Given the description of an element on the screen output the (x, y) to click on. 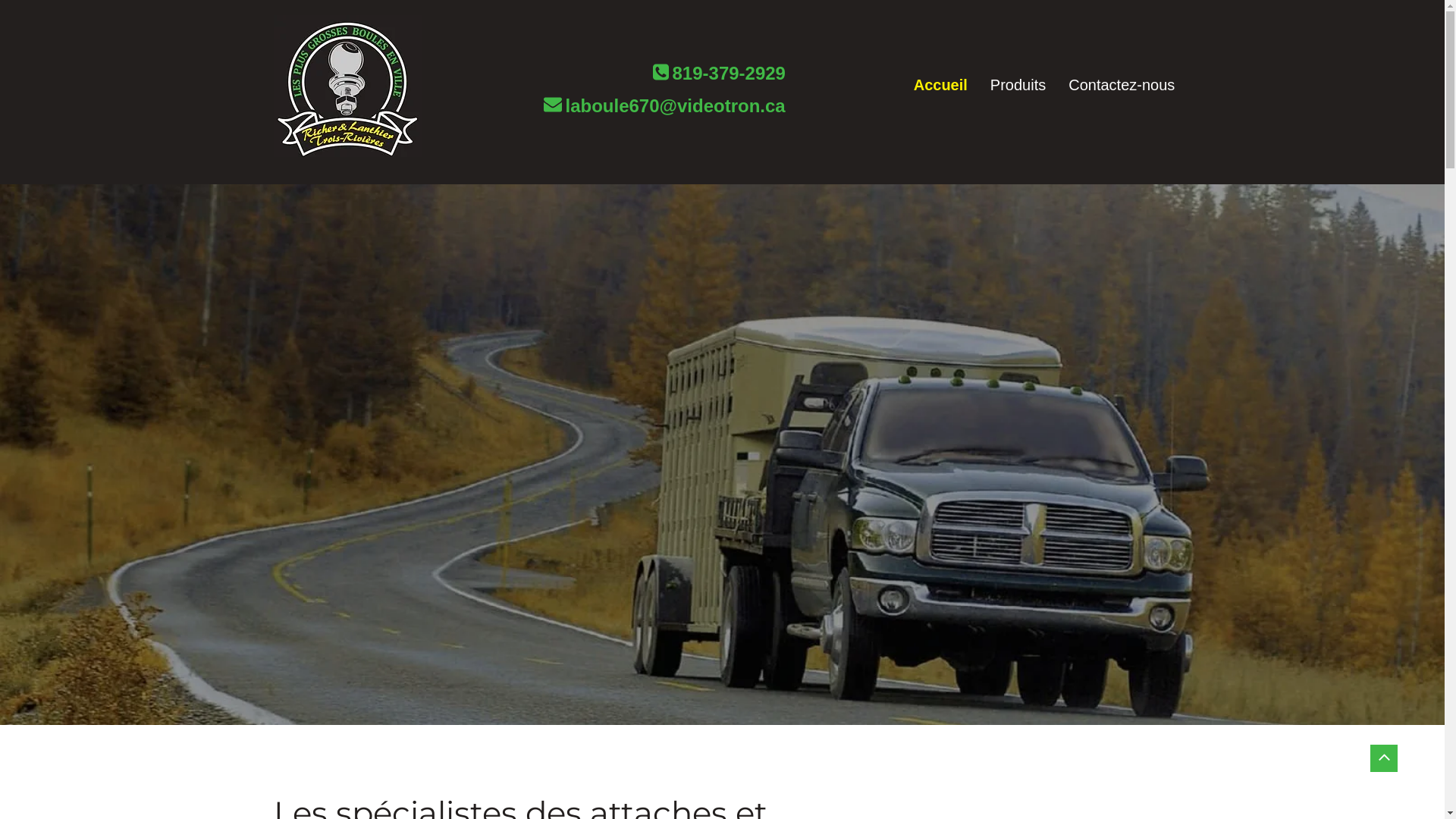
laboule670@videotron.ca Element type: text (675, 109)
Produits Element type: text (1017, 85)
819-379-2929 Element type: text (727, 76)
Contactez-nous Element type: text (1121, 85)
Accueil Element type: text (940, 85)
